Given the description of an element on the screen output the (x, y) to click on. 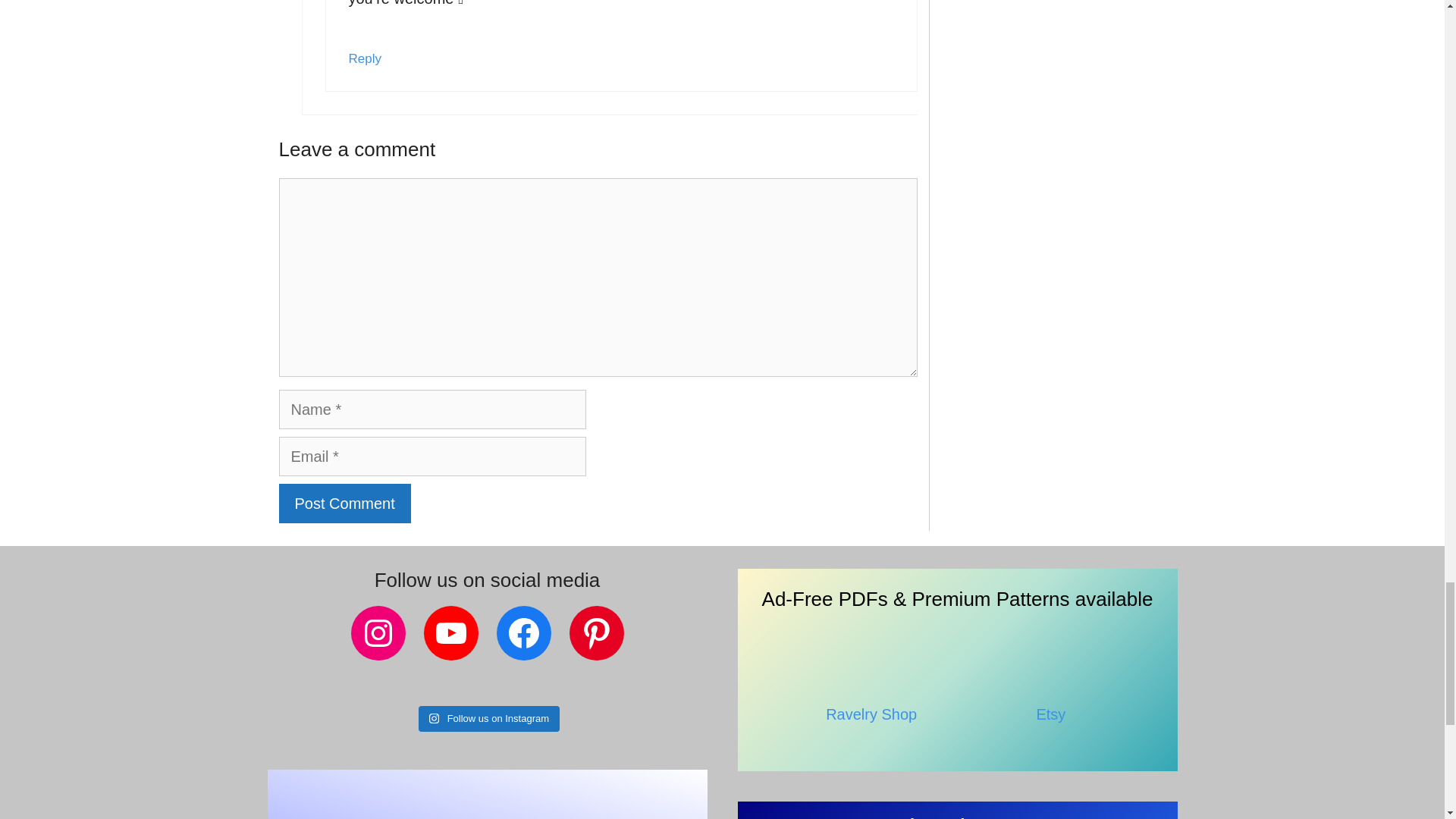
Post Comment (344, 503)
